Given the description of an element on the screen output the (x, y) to click on. 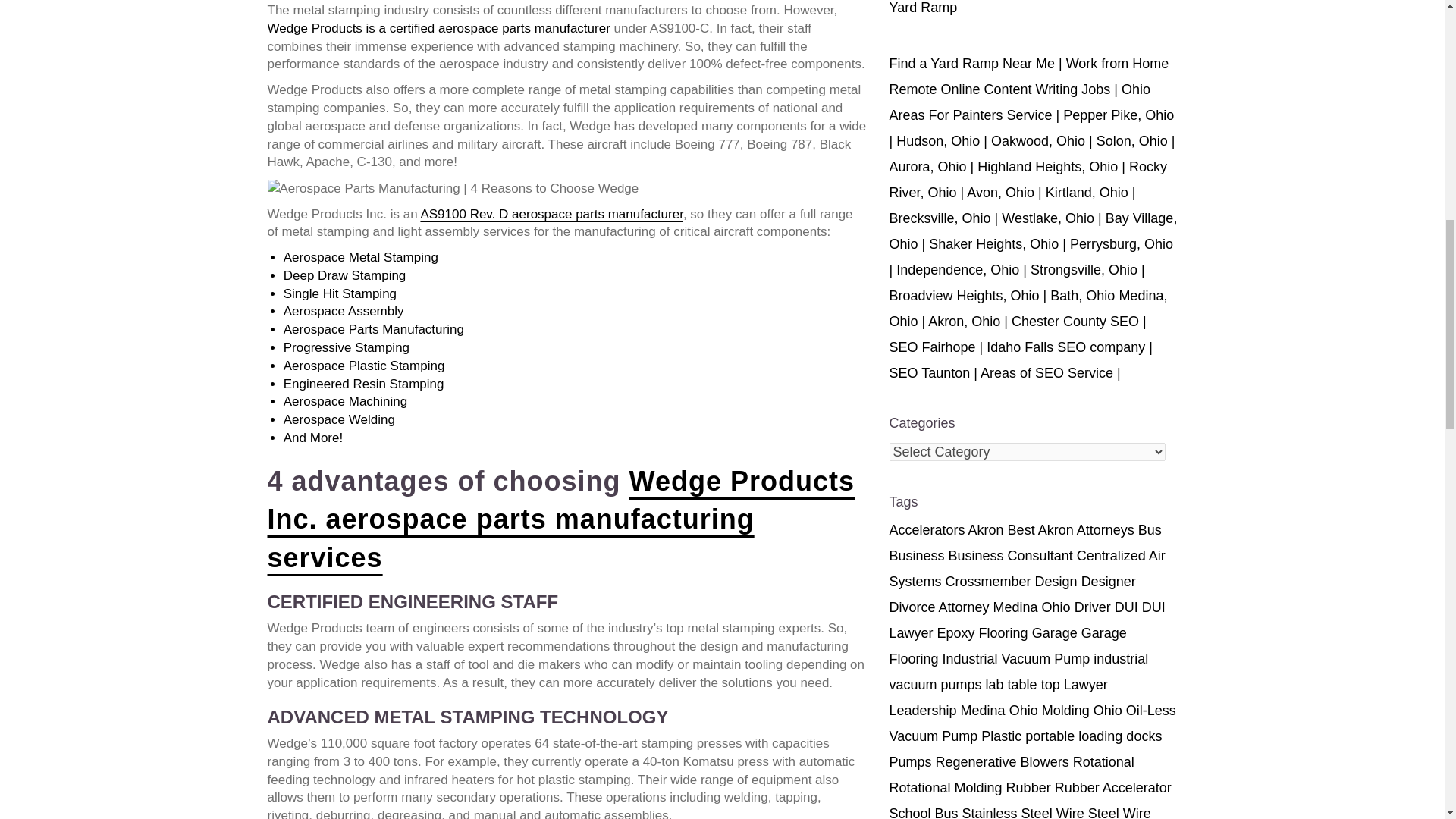
Hudson, Ohio (937, 140)
Ohio Areas For Painters Service (1019, 101)
Avon, Ohio (999, 192)
Yard Ramp (922, 7)
Kirtland, Ohio (1086, 192)
Wedge Products Inc. aerospace parts manufacturing services (559, 519)
Wedge Products is a certified aerospace parts manufacturer (438, 28)
Rocky River, Ohio (1027, 178)
Highland Heights, Ohio (1047, 166)
Oakwood, Ohio (1037, 140)
